Given the description of an element on the screen output the (x, y) to click on. 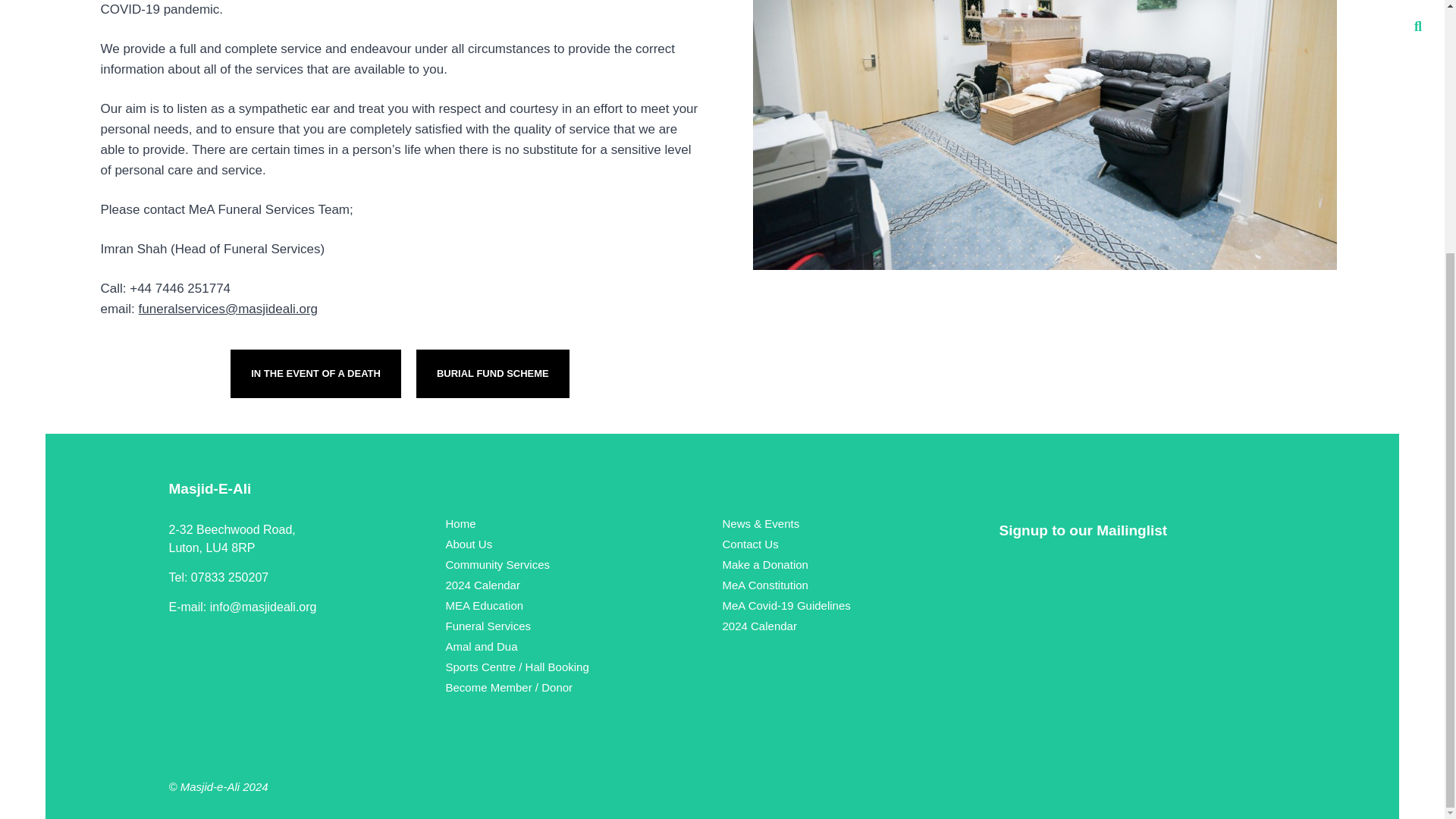
In the event of a death (315, 373)
Burial Fund Scheme (492, 373)
Donate Now (566, 196)
